Given the description of an element on the screen output the (x, y) to click on. 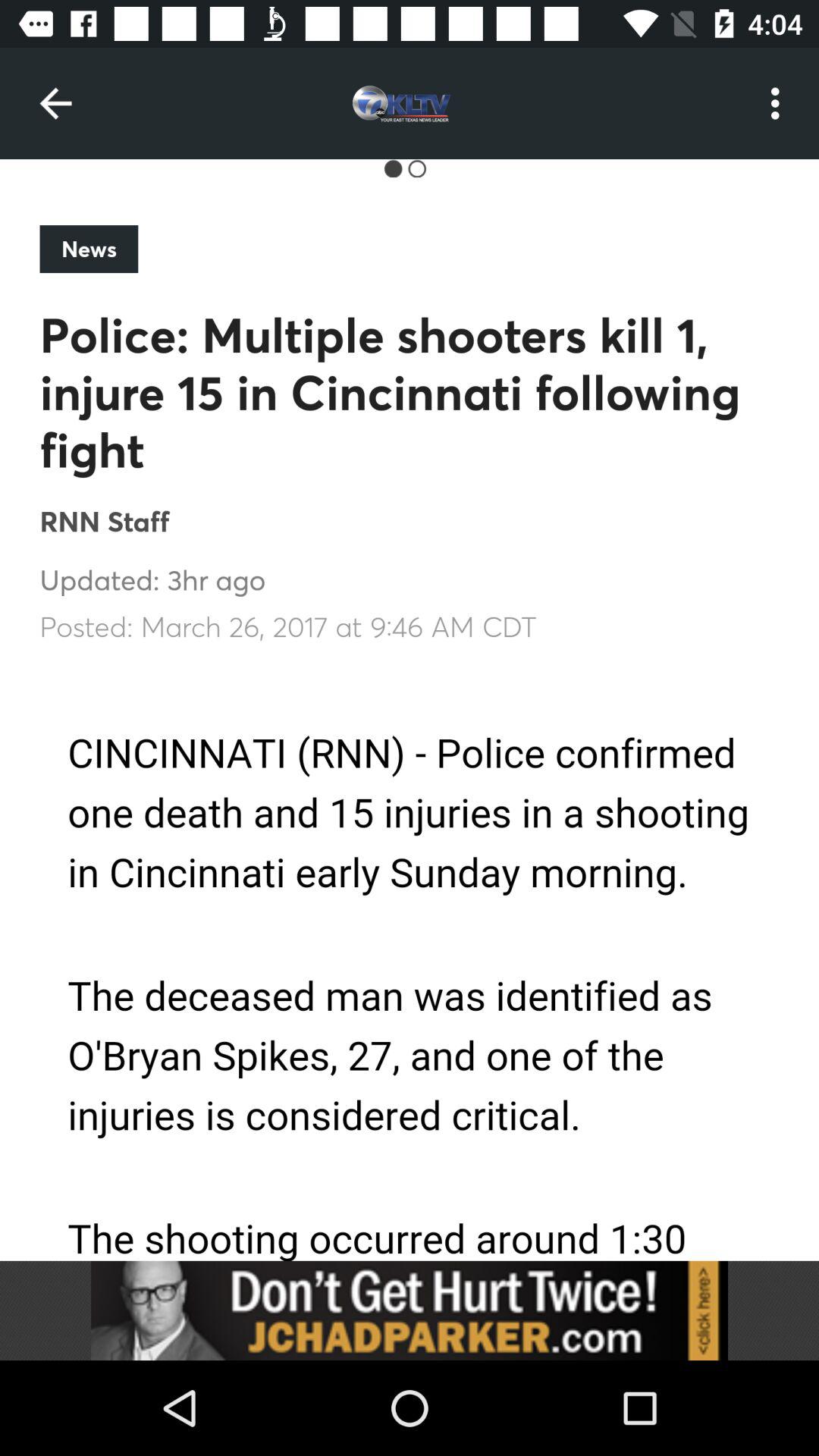
advateshment (409, 1310)
